Given the description of an element on the screen output the (x, y) to click on. 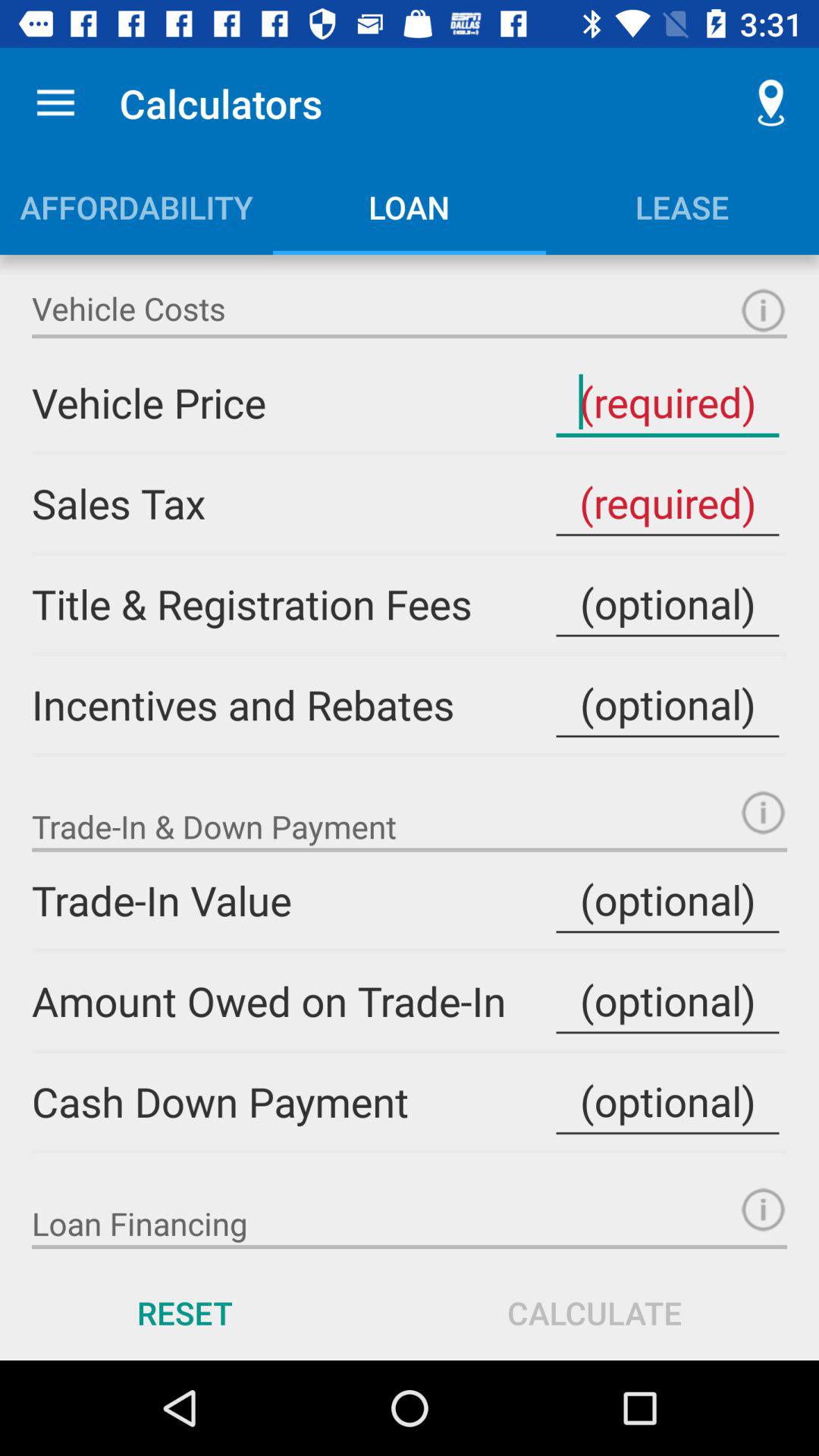
press the app next to calculators (55, 103)
